Given the description of an element on the screen output the (x, y) to click on. 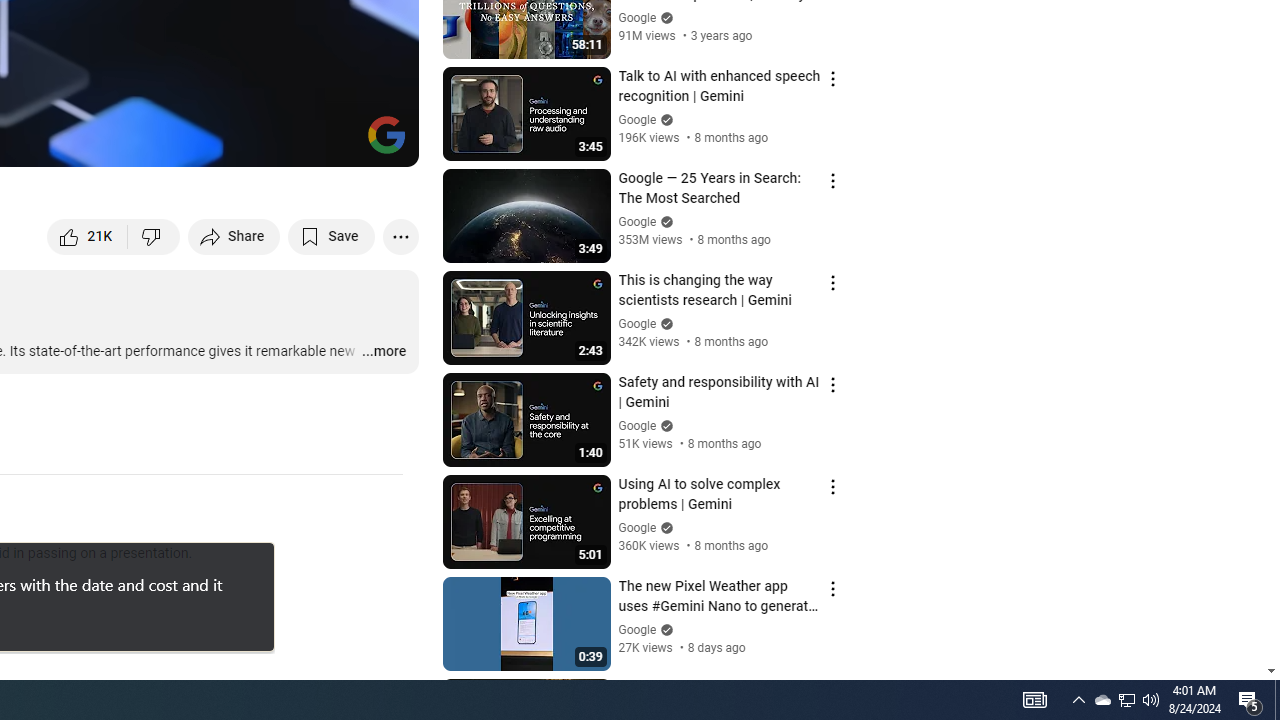
Verified (664, 629)
More actions (399, 236)
...more (382, 352)
Channel watermark (386, 134)
